Given the description of an element on the screen output the (x, y) to click on. 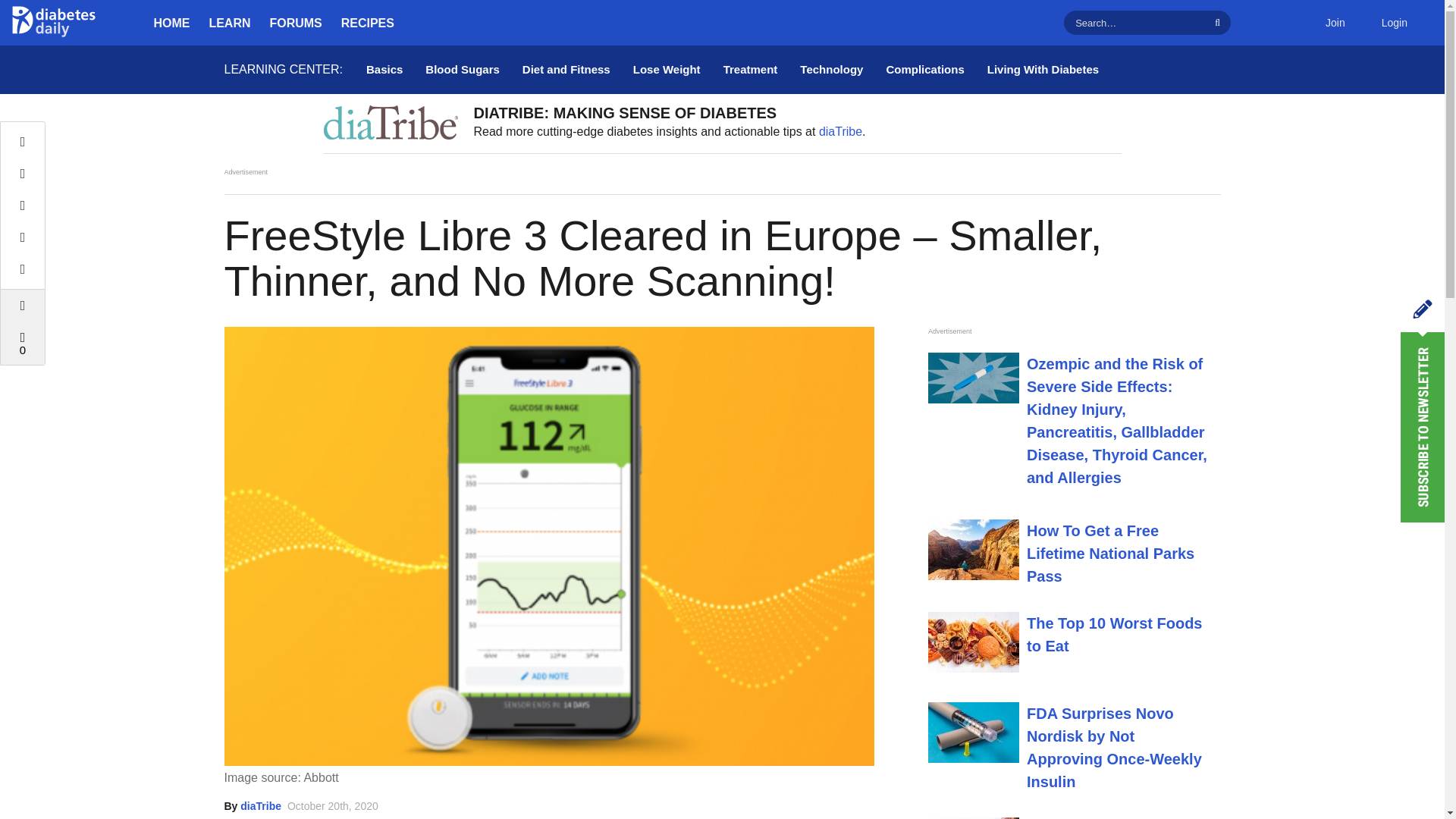
Basics (384, 69)
LEARN (229, 22)
FORUMS (295, 22)
RECIPES (367, 22)
Join (1334, 22)
HOME (171, 22)
Login (1393, 22)
